Given the description of an element on the screen output the (x, y) to click on. 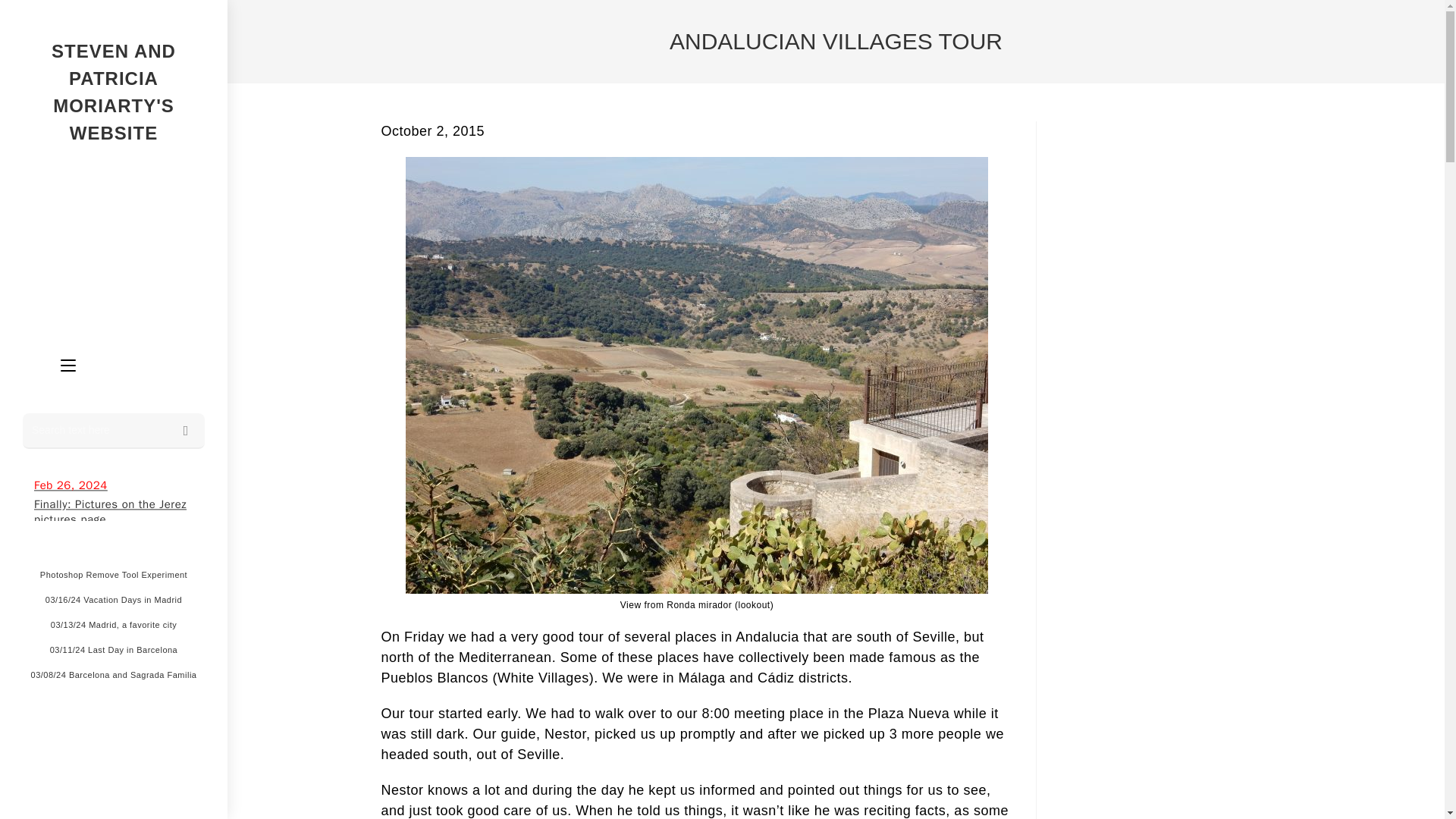
STEVEN AND PATRICIA MORIARTY'S WEBSITE (113, 91)
JEREZ FESTIVAL 2024, FLORENCE, SPAIN (112, 228)
HOME (87, 202)
